Given the description of an element on the screen output the (x, y) to click on. 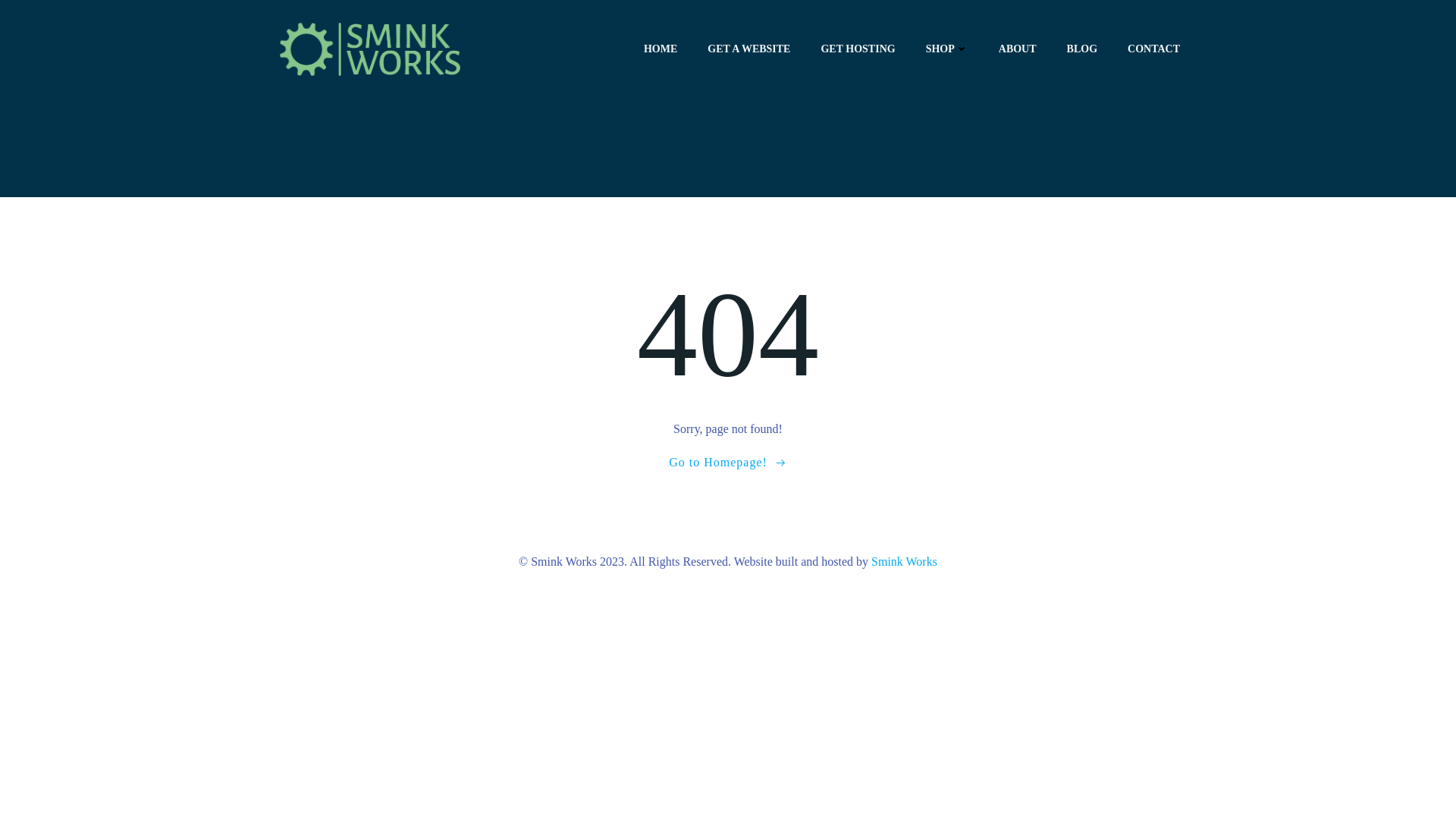
GET HOSTING (858, 48)
BLOG (1082, 48)
Smink Works (903, 561)
HOME (660, 48)
GET A WEBSITE (748, 48)
CONTACT (1152, 48)
Go to Homepage! (727, 462)
ABOUT (1017, 48)
SHOP (947, 48)
